Given the description of an element on the screen output the (x, y) to click on. 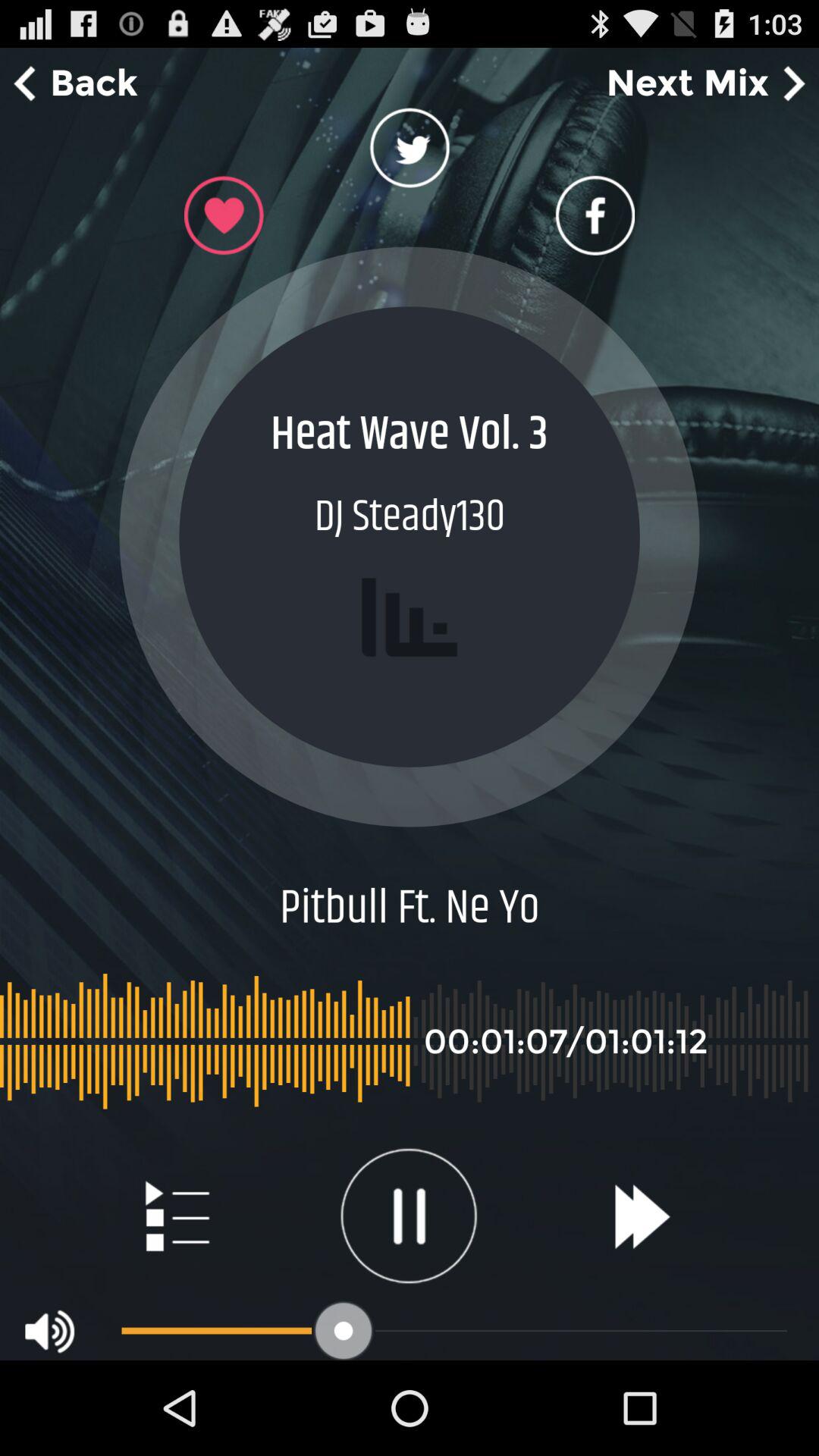
favorite option (223, 215)
